Given the description of an element on the screen output the (x, y) to click on. 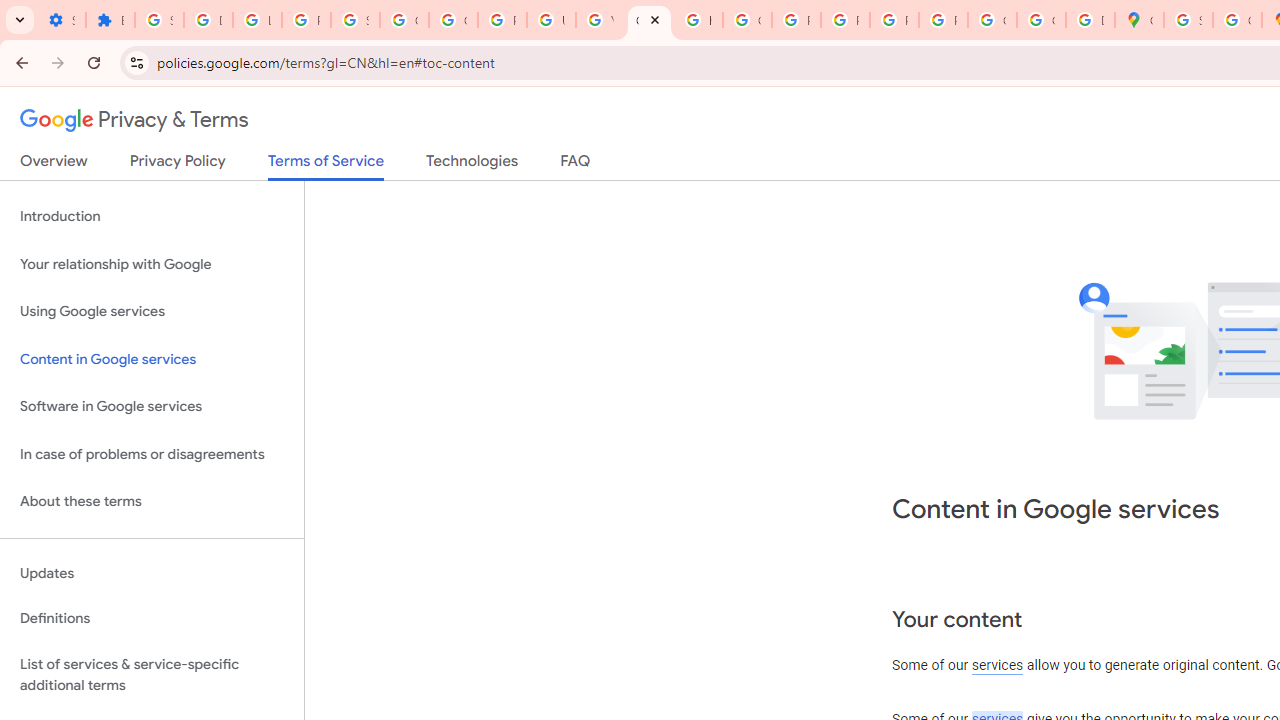
List of services & service-specific additional terms (152, 674)
Extensions (109, 20)
Create your Google Account (1237, 20)
Learn how to find your photos - Google Photos Help (257, 20)
Terms of Service (326, 166)
YouTube (600, 20)
Privacy Policy (177, 165)
